Given the description of an element on the screen output the (x, y) to click on. 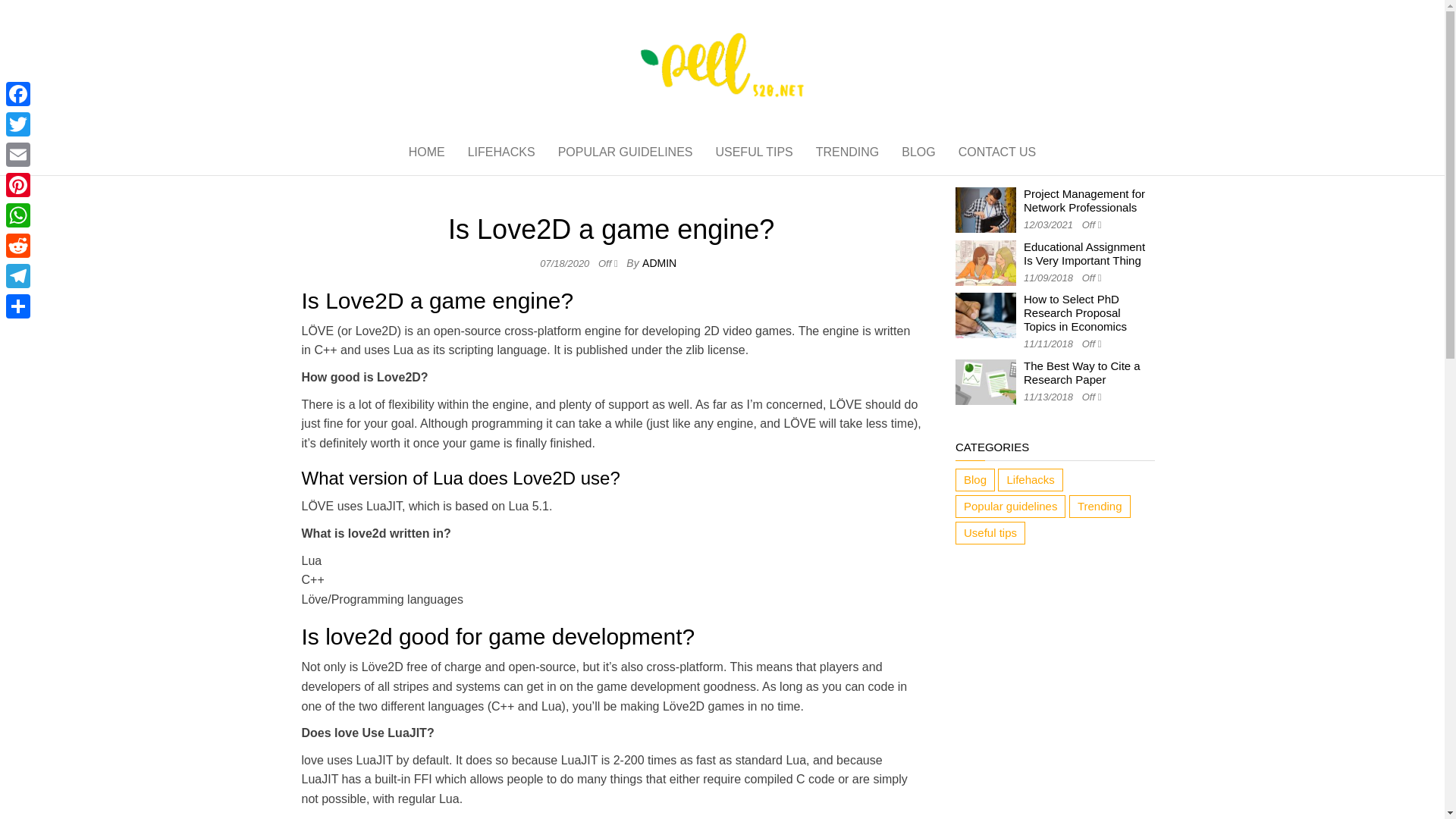
Lifehacks (1029, 479)
Lifehacks (502, 152)
Pinterest (17, 184)
Facebook (17, 93)
The Best Way to Cite a Research Paper (1081, 372)
ADMIN (659, 263)
Useful tips (990, 532)
Contact us (997, 152)
Home (427, 152)
Blog (974, 479)
